Given the description of an element on the screen output the (x, y) to click on. 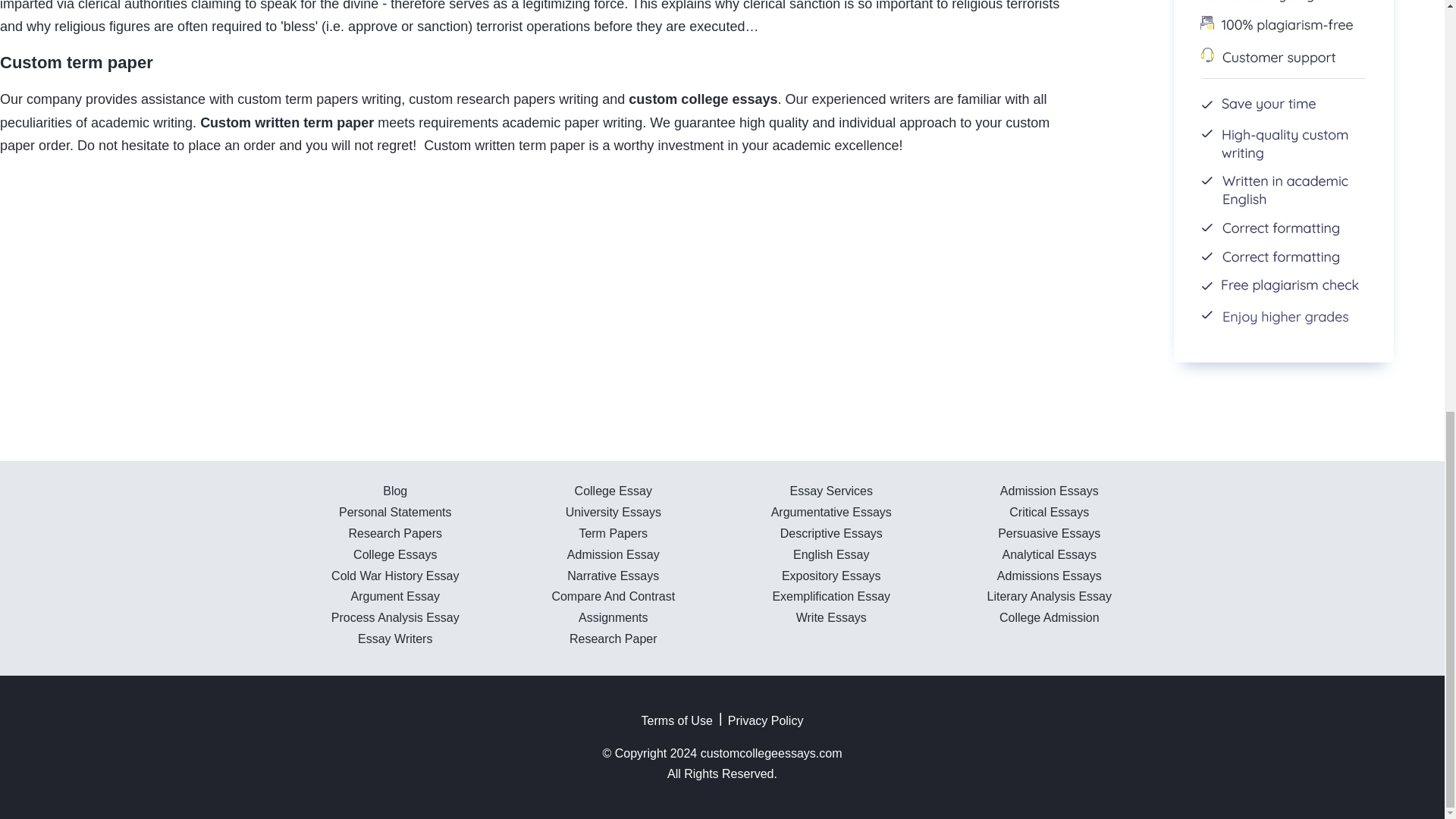
College Essay (613, 490)
Personal Statements (395, 512)
Narrative Essays (613, 575)
Admission Essays (1049, 490)
Process Analysis Essay (395, 617)
Argumentative Essays (831, 512)
Critical Essays (1049, 512)
Research Paper (613, 638)
Write Essays (831, 617)
Cold War History Essay (394, 575)
Compare And Contrast (613, 595)
Analytical Essays (1050, 554)
Descriptive Essays (831, 533)
University Essays (613, 512)
Argument Essay (394, 595)
